Given the description of an element on the screen output the (x, y) to click on. 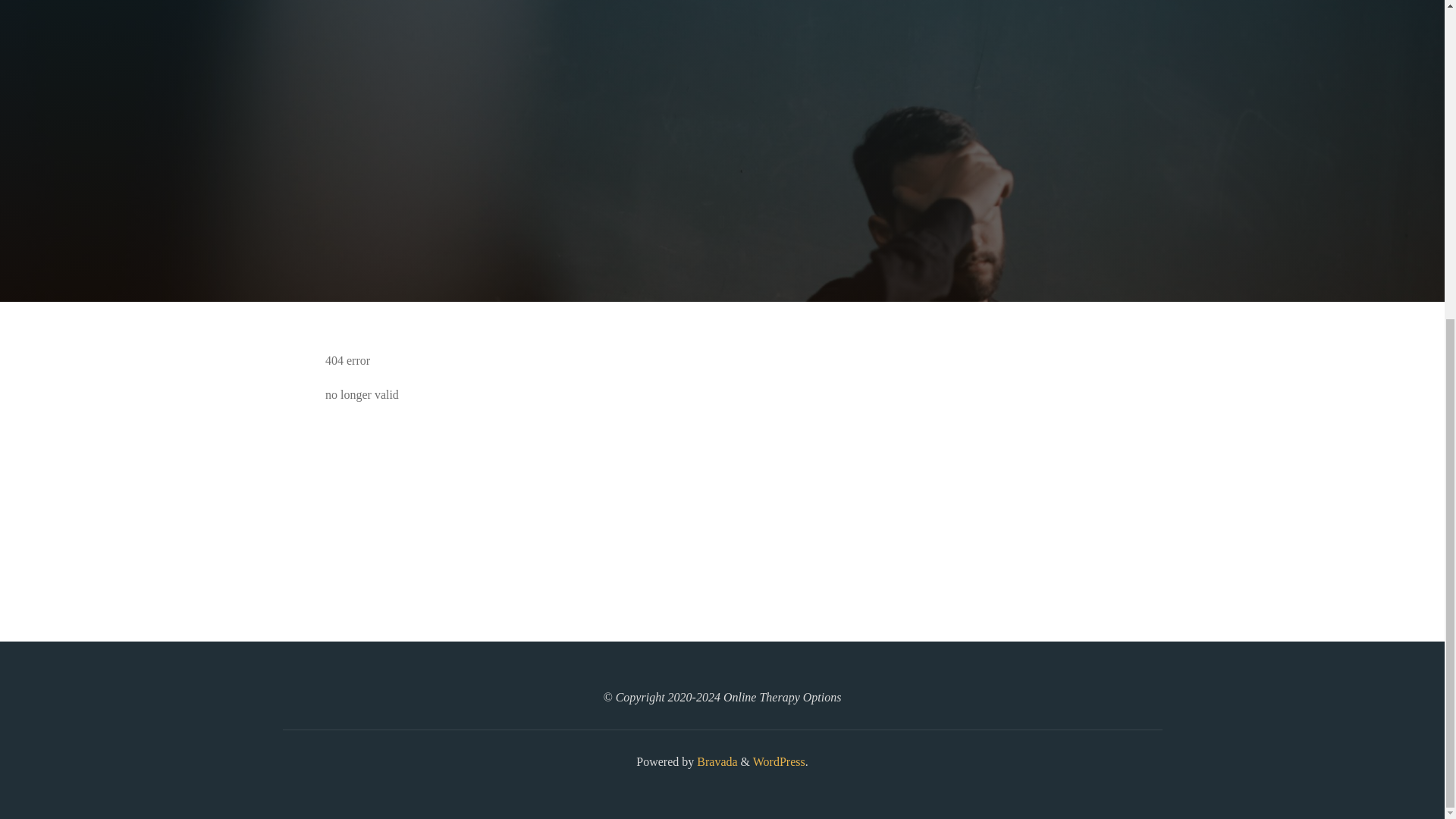
WordPress (778, 761)
Semantic Personal Publishing Platform (778, 761)
Bravada (715, 761)
Bravada WordPress Theme by Cryout Creations (715, 761)
Read more (721, 207)
